Given the description of an element on the screen output the (x, y) to click on. 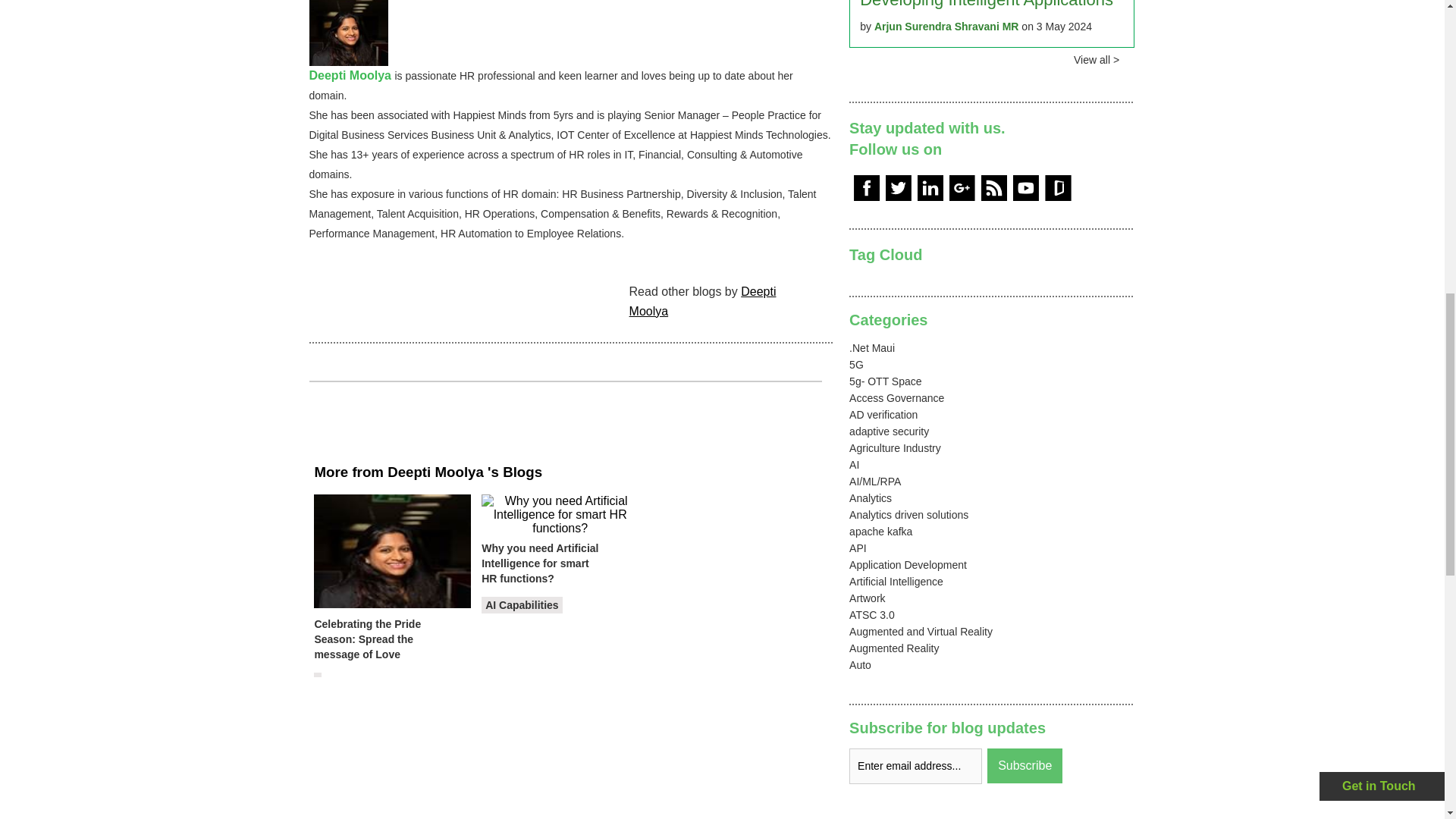
Subscribe (1024, 765)
